Given the description of an element on the screen output the (x, y) to click on. 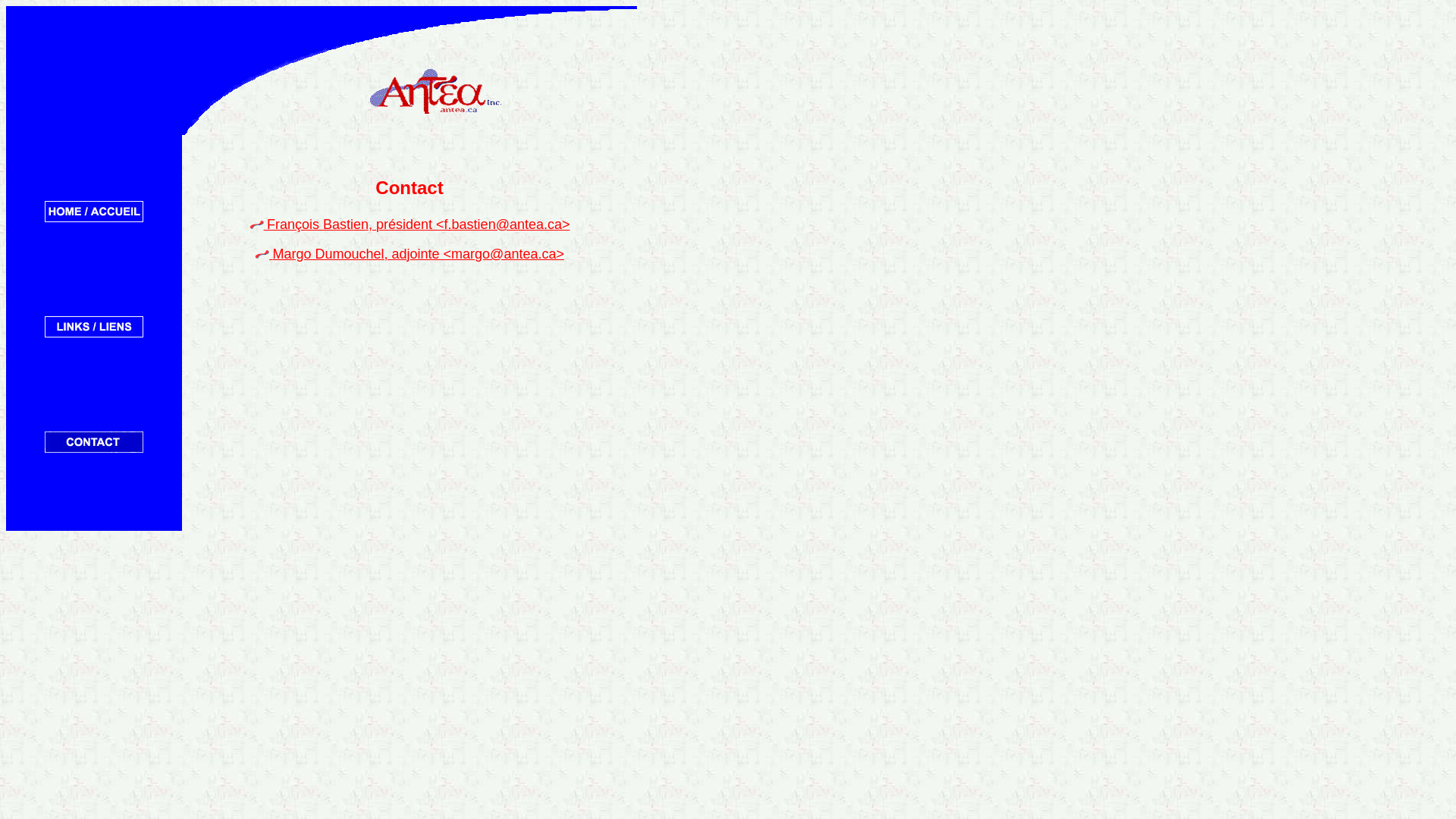
Margo Dumouchel, adjointe <margo@antea.ca> Element type: text (416, 253)
